Given the description of an element on the screen output the (x, y) to click on. 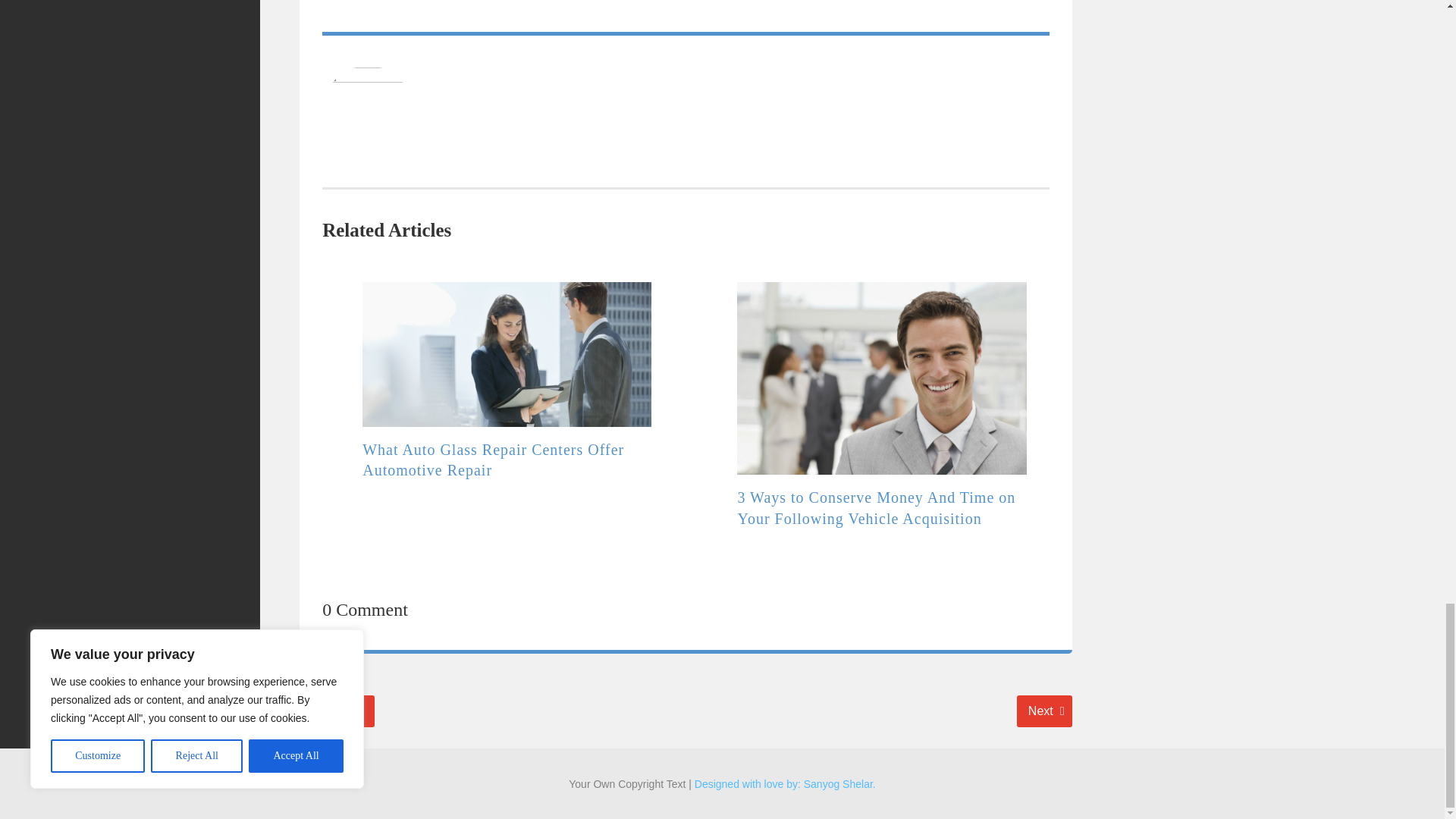
What Auto Glass Repair Centers Offer Automotive Repair (335, 711)
